Given the description of an element on the screen output the (x, y) to click on. 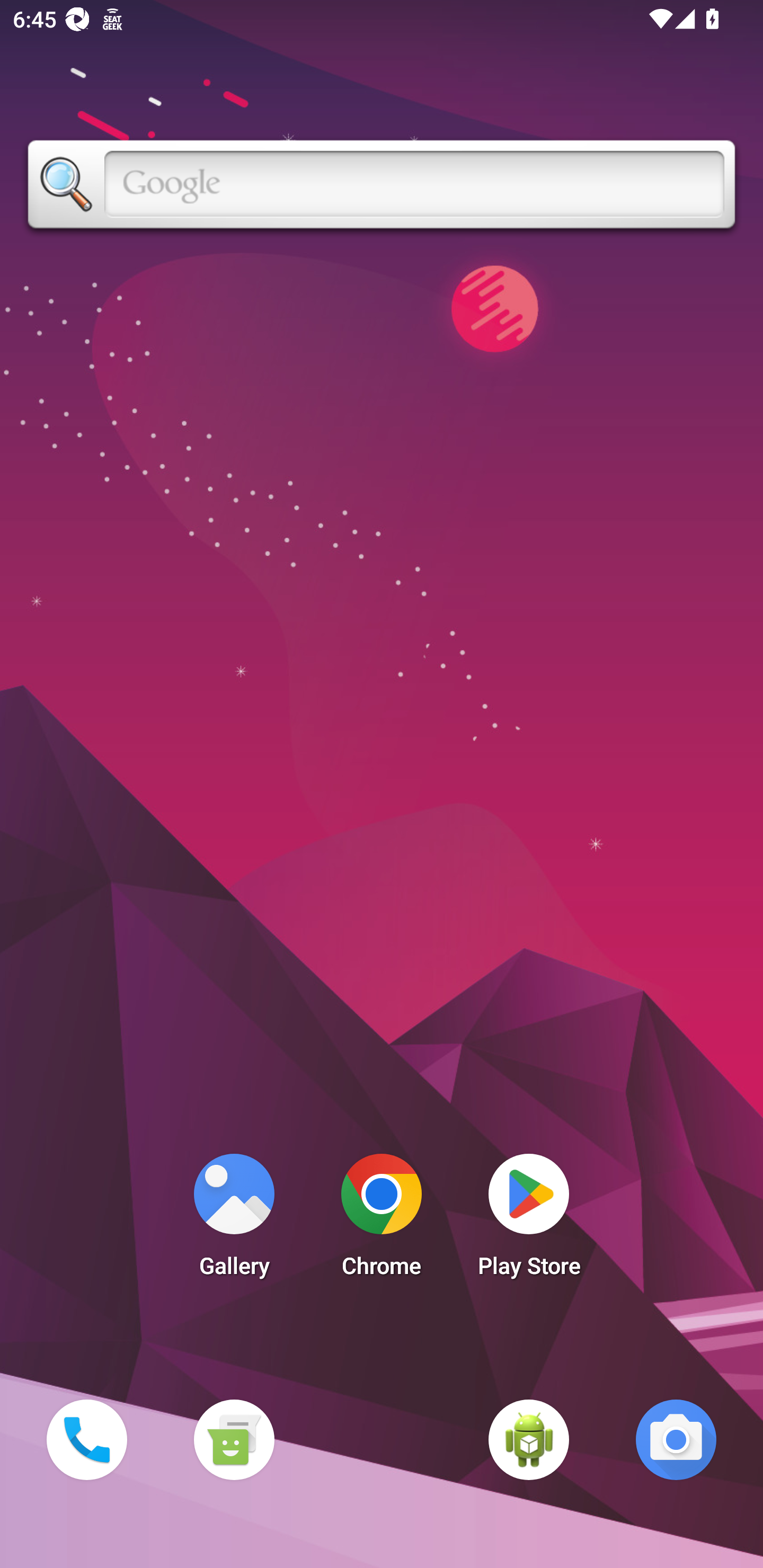
Gallery (233, 1220)
Chrome (381, 1220)
Play Store (528, 1220)
Phone (86, 1439)
Messaging (233, 1439)
WebView Browser Tester (528, 1439)
Camera (676, 1439)
